Given the description of an element on the screen output the (x, y) to click on. 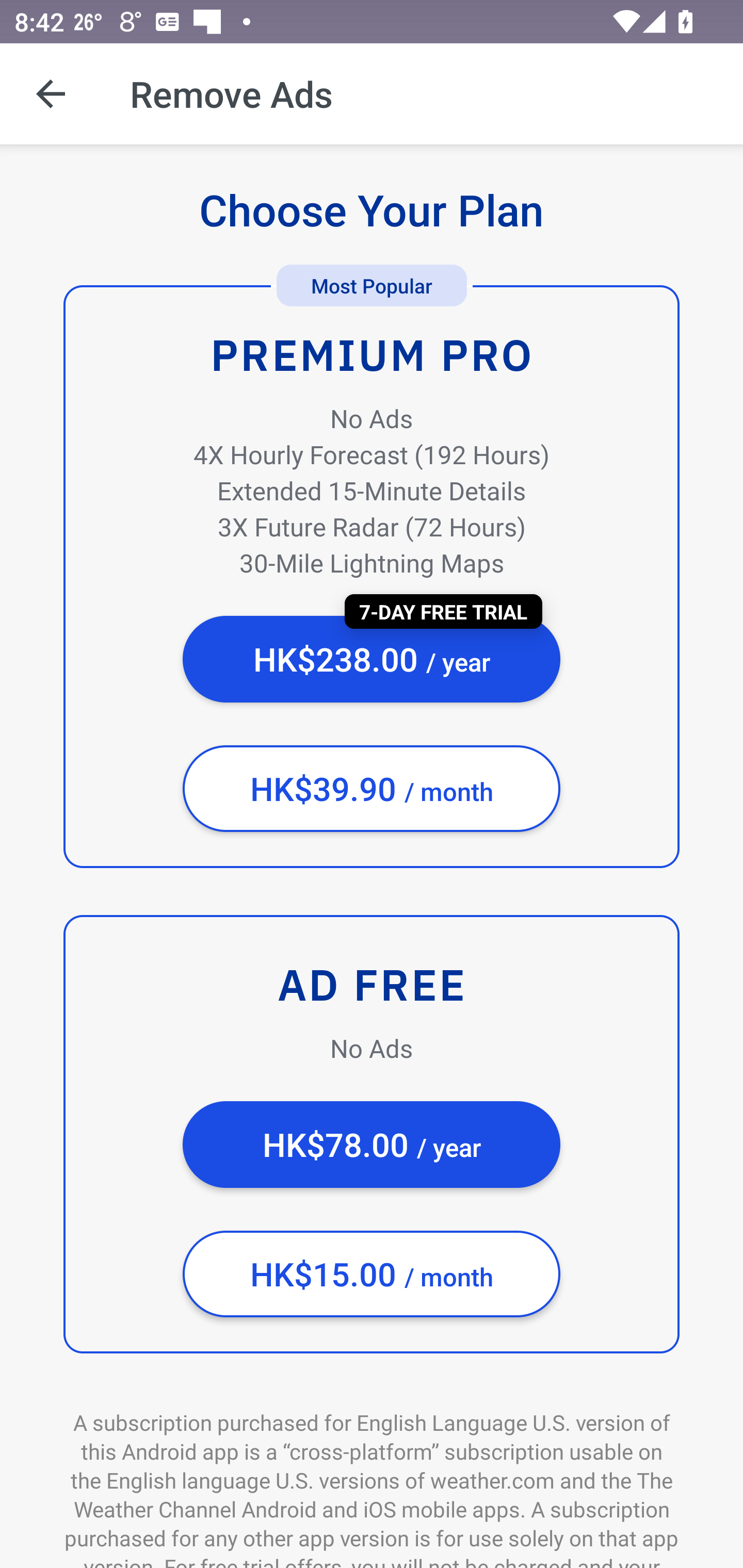
Navigate up (50, 93)
HK$238.00 / year (371, 659)
HK$39.90 / month (371, 788)
HK$78.00 / year (371, 1144)
HK$15.00 / month (371, 1273)
